Given the description of an element on the screen output the (x, y) to click on. 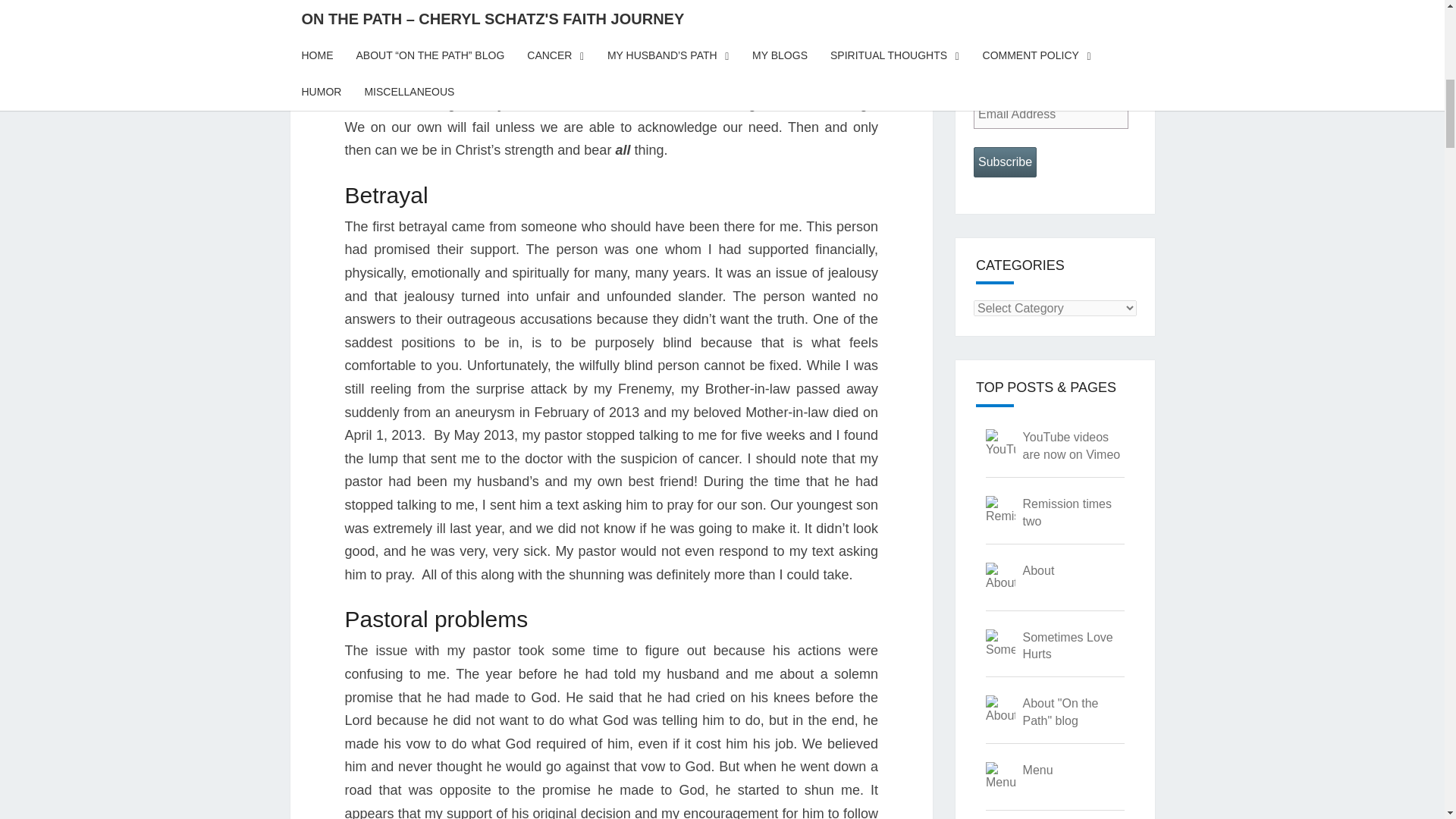
YouTube videos are now on Vimeo (1072, 445)
Remission times two (1067, 512)
About (1038, 570)
